Given the description of an element on the screen output the (x, y) to click on. 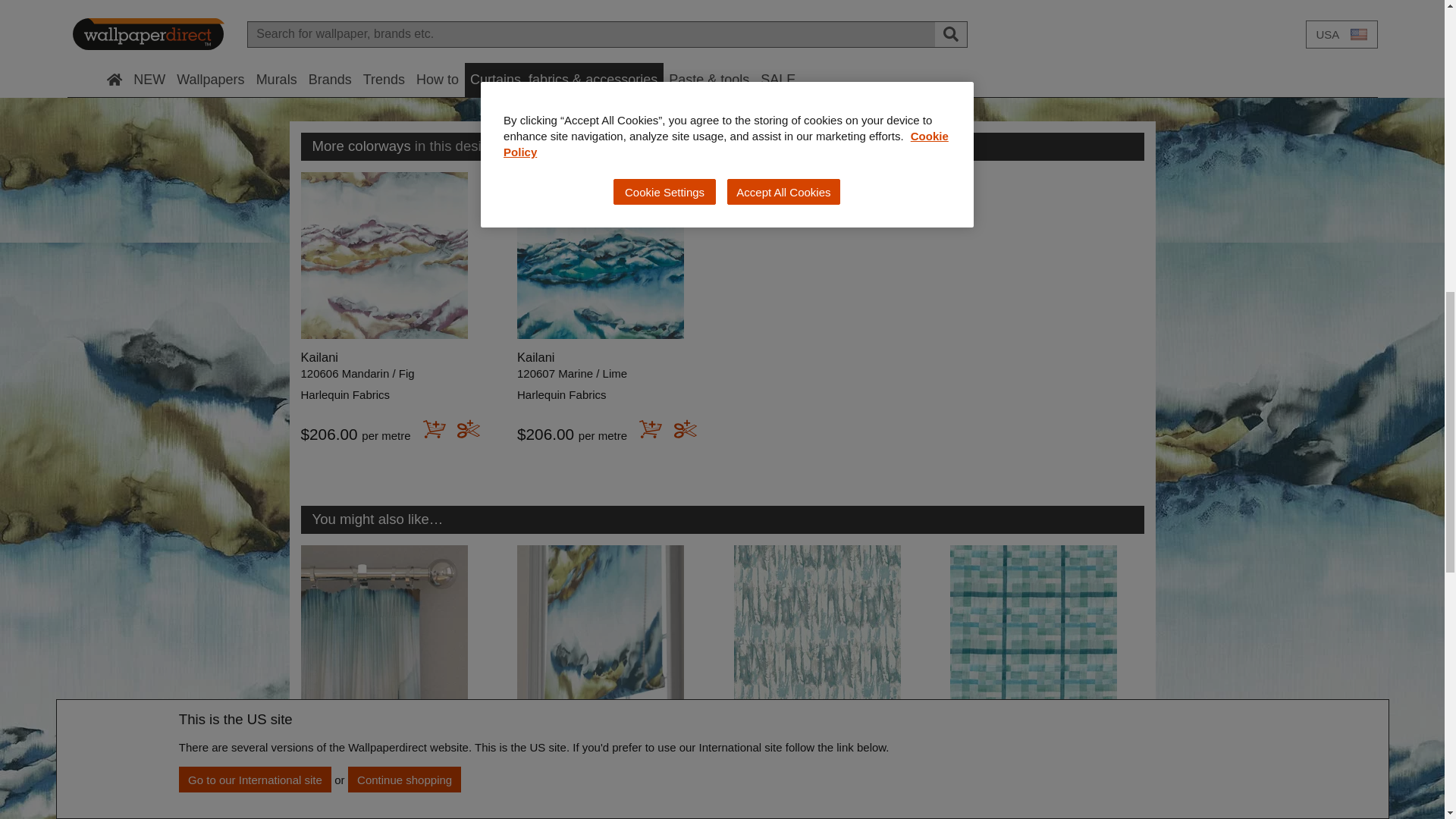
Add Ertha fabric in celestial to your cart (1082, 804)
Add a sample of eco Takara fabric in frost to your basket (900, 804)
Add Eco Takara fabric in frost to your cart (867, 804)
Add a sample of kailani fabric in lagoon to your basket (449, 804)
Add a sample of kailani fabric in lagoon to your basket (652, 804)
